Given the description of an element on the screen output the (x, y) to click on. 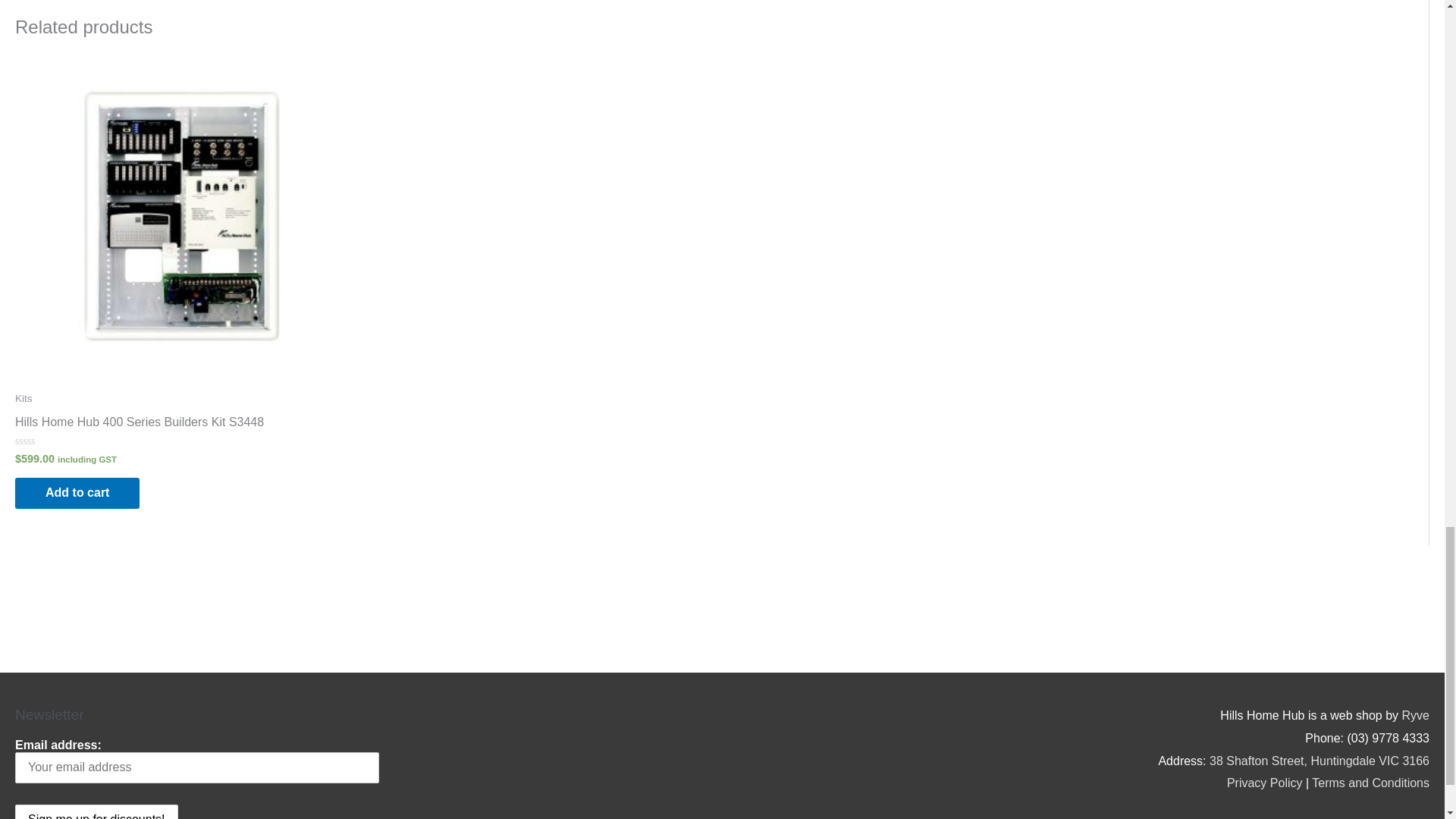
Ryve (1415, 715)
Sign me up for discounts! (95, 811)
Add to cart (76, 492)
Privacy Policy (1265, 782)
Terms and Conditions (1370, 782)
Hills Home Hub 400 Series Builders Kit S3448 (138, 425)
38 Shafton Street, Huntingdale VIC 3166 (1319, 760)
Sign me up for discounts! (95, 811)
